Given the description of an element on the screen output the (x, y) to click on. 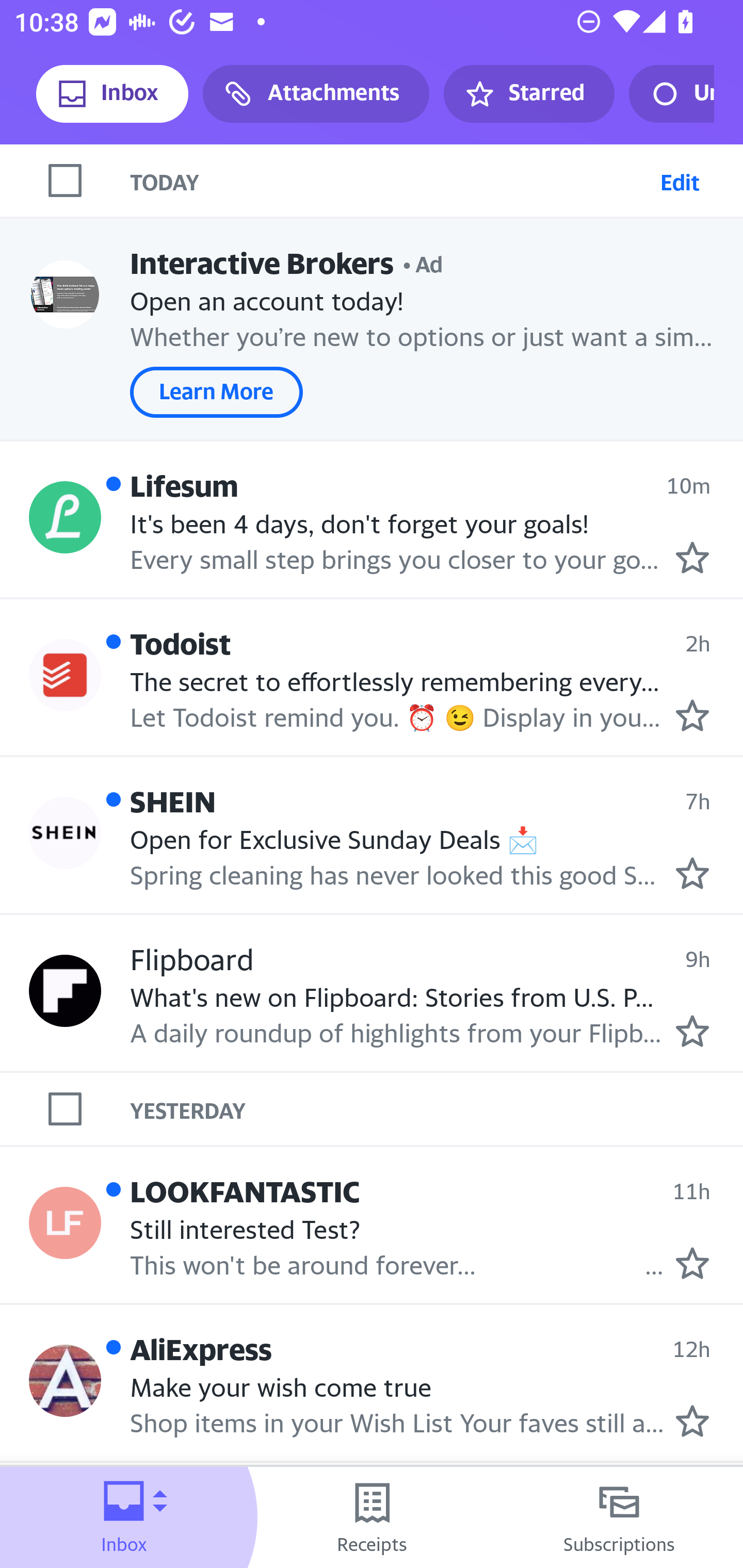
Attachments (315, 93)
Starred (528, 93)
TODAY (391, 180)
Edit Select emails (679, 180)
Profile
Lifesum (64, 517)
Mark as starred. (692, 557)
Profile
Todoist (64, 675)
Mark as starred. (692, 715)
Profile
SHEIN (64, 832)
Mark as starred. (692, 872)
Profile
Flipboard (64, 990)
Mark as starred. (692, 1030)
YESTERDAY (436, 1109)
Profile
LOOKFANTASTIC (64, 1222)
Mark as starred. (692, 1262)
Profile
AliExpress (64, 1381)
Mark as starred. (692, 1421)
Inbox Folder picker (123, 1517)
Receipts (371, 1517)
Subscriptions (619, 1517)
